Given the description of an element on the screen output the (x, y) to click on. 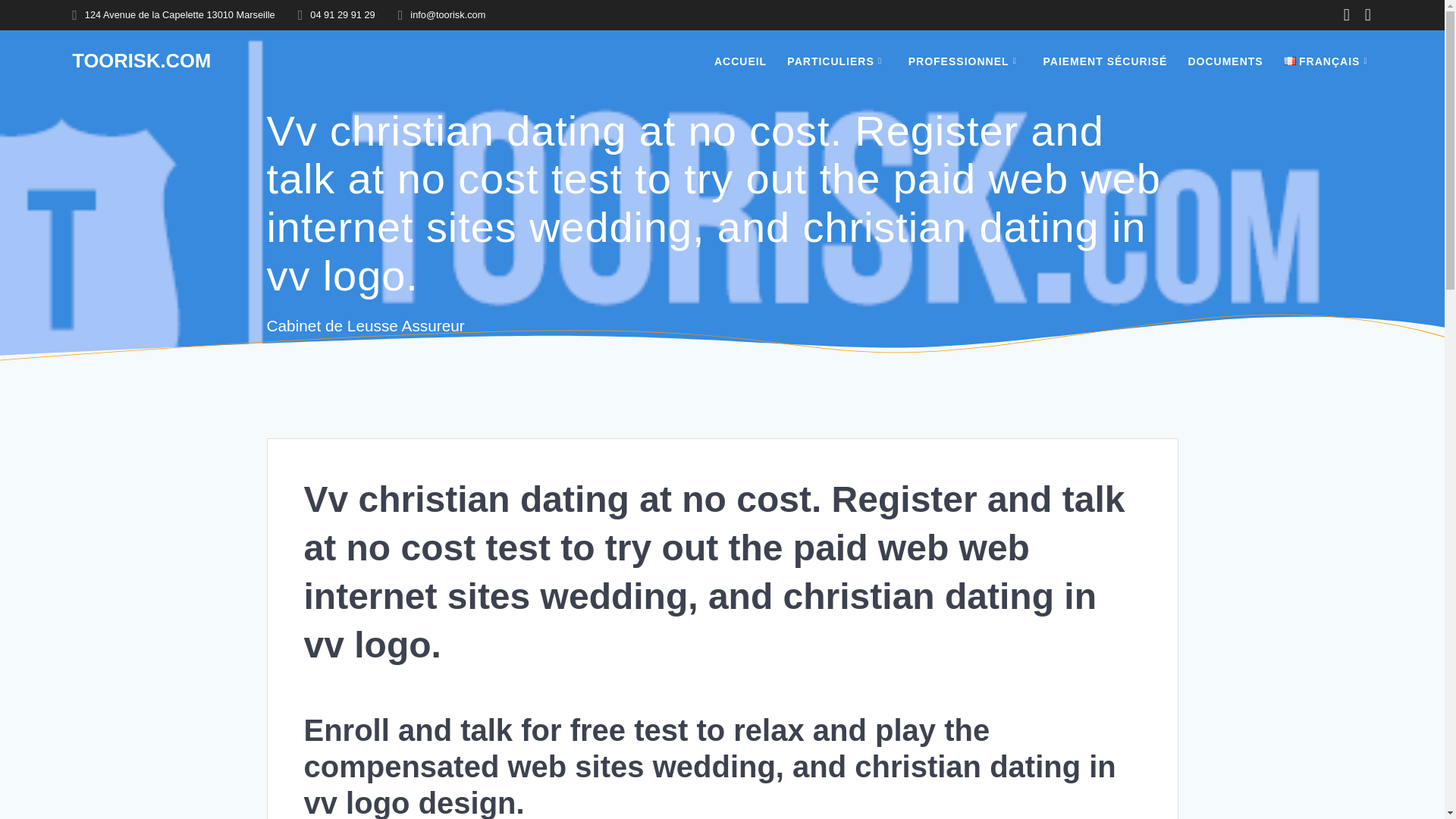
TOORISK.COM (141, 61)
ACCUEIL (740, 61)
PARTICULIERS (836, 61)
PROFESSIONNEL (965, 61)
DOCUMENTS (1225, 61)
